Given the description of an element on the screen output the (x, y) to click on. 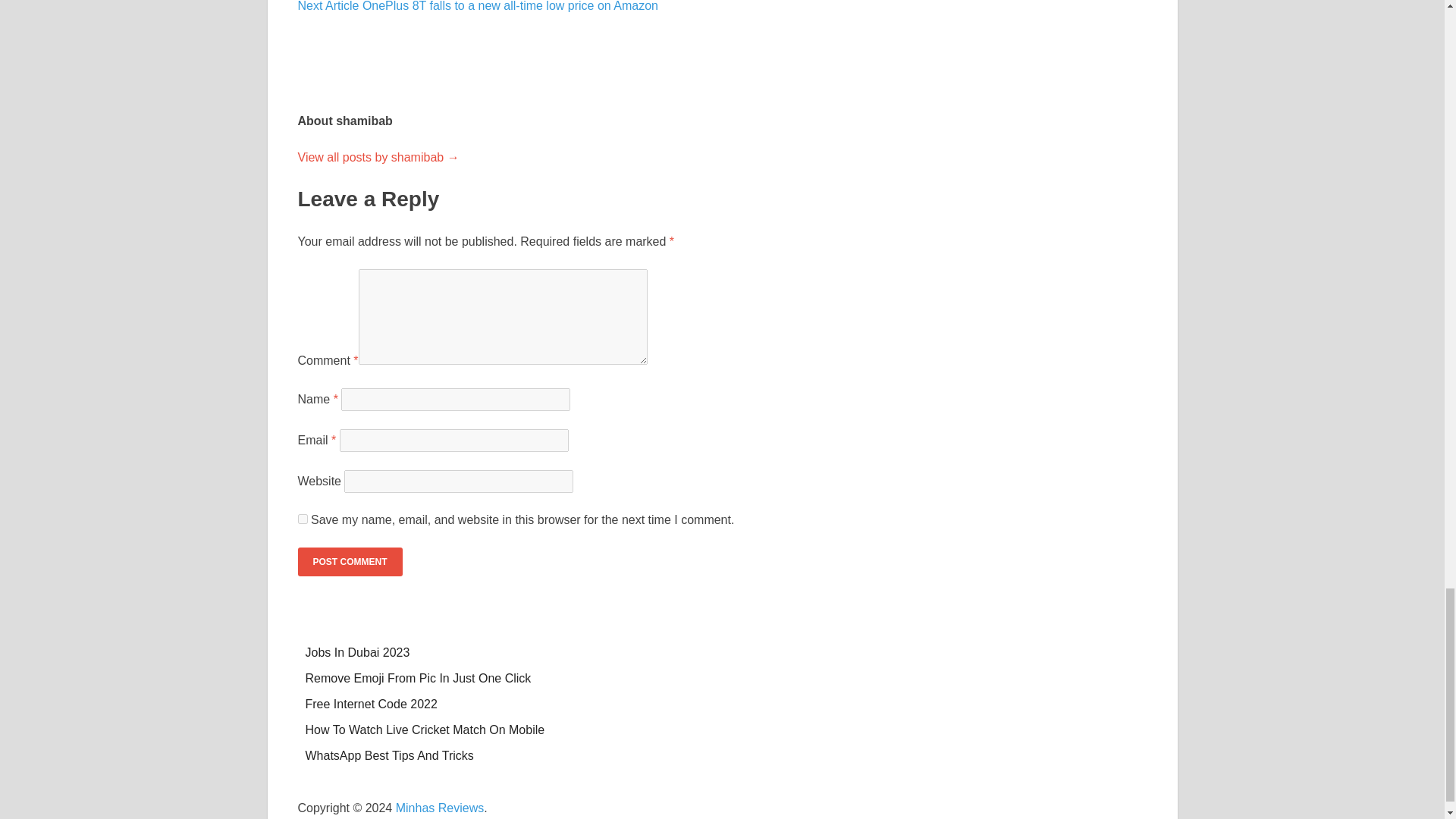
Post Comment (349, 561)
shamibab (377, 156)
Minhas Reviews (439, 807)
yes (302, 519)
Post Comment (349, 561)
